Given the description of an element on the screen output the (x, y) to click on. 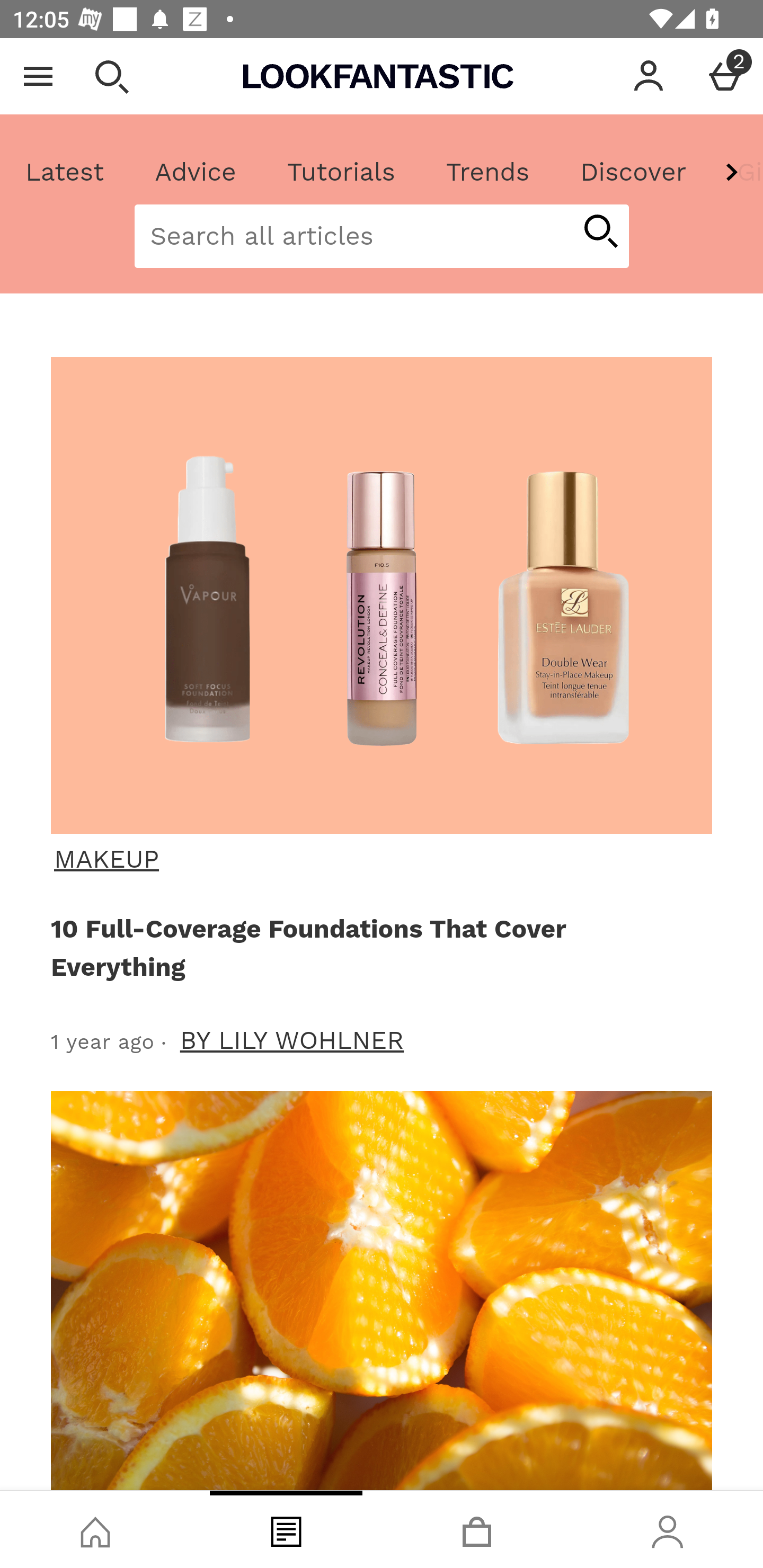
Open Menu (38, 75)
Open search (111, 75)
Account (648, 75)
Basket Menu (724, 75)
Lookfantastic USA Home page (378, 76)
Latest (65, 172)
Advice (195, 172)
Tutorials (340, 172)
Trends (486, 172)
Discover (632, 172)
Gift Guide (736, 172)
start article search (599, 232)
MAKEUP (379, 858)
10 Full-Coverage Foundations That Cover Everything (377, 947)
BY LILY WOHLNER (292, 1040)
Shop, tab, 1 of 4 (95, 1529)
Blog, tab, 2 of 4 (285, 1529)
Basket, tab, 3 of 4 (476, 1529)
Account, tab, 4 of 4 (667, 1529)
